Given the description of an element on the screen output the (x, y) to click on. 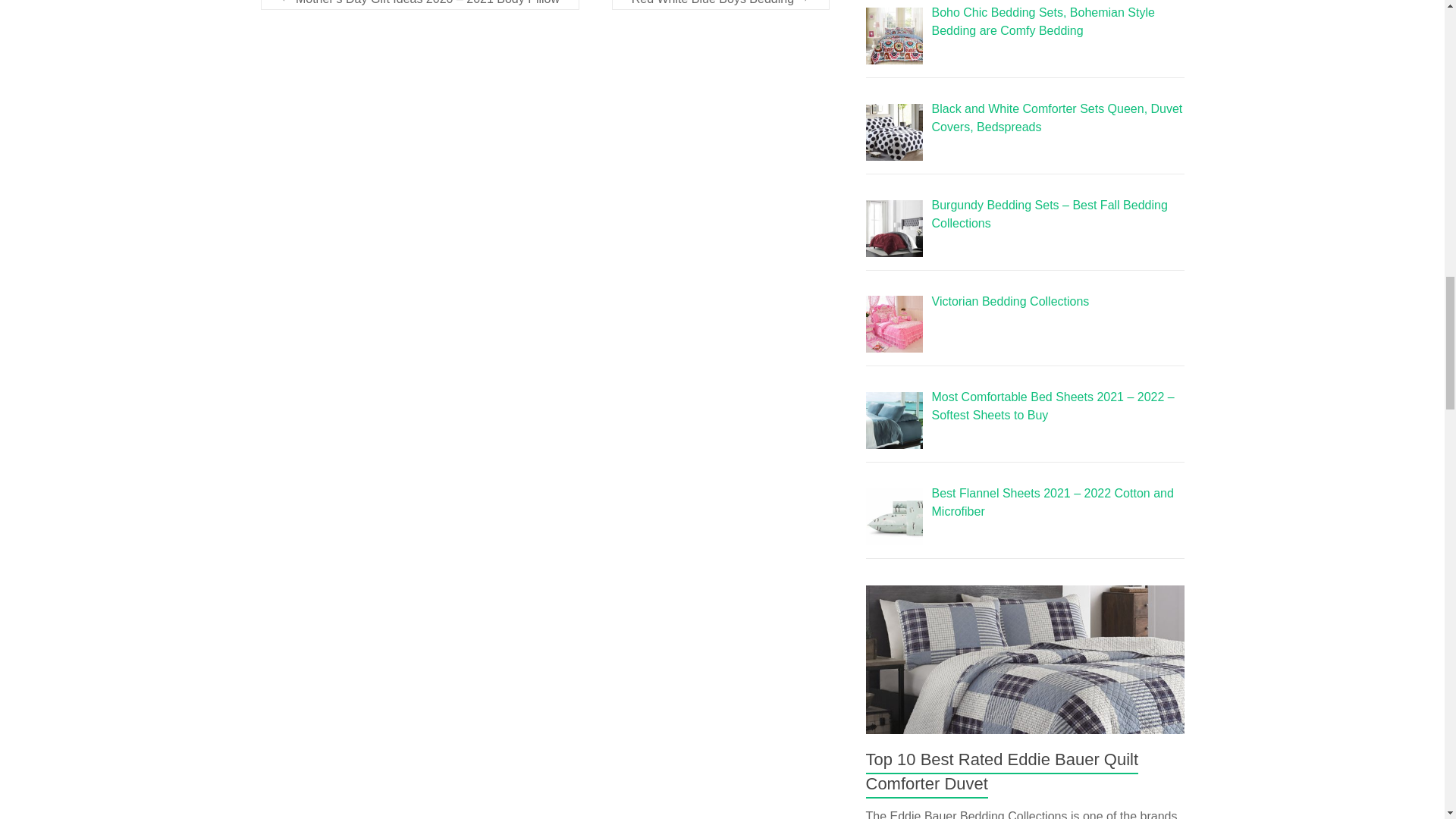
Top 10 Best Rated Eddie Bauer Quilt Comforter Duvet (1002, 771)
Top 10 Best Rated Eddie Bauer Quilt Comforter Duvet (1025, 659)
